Given the description of an element on the screen output the (x, y) to click on. 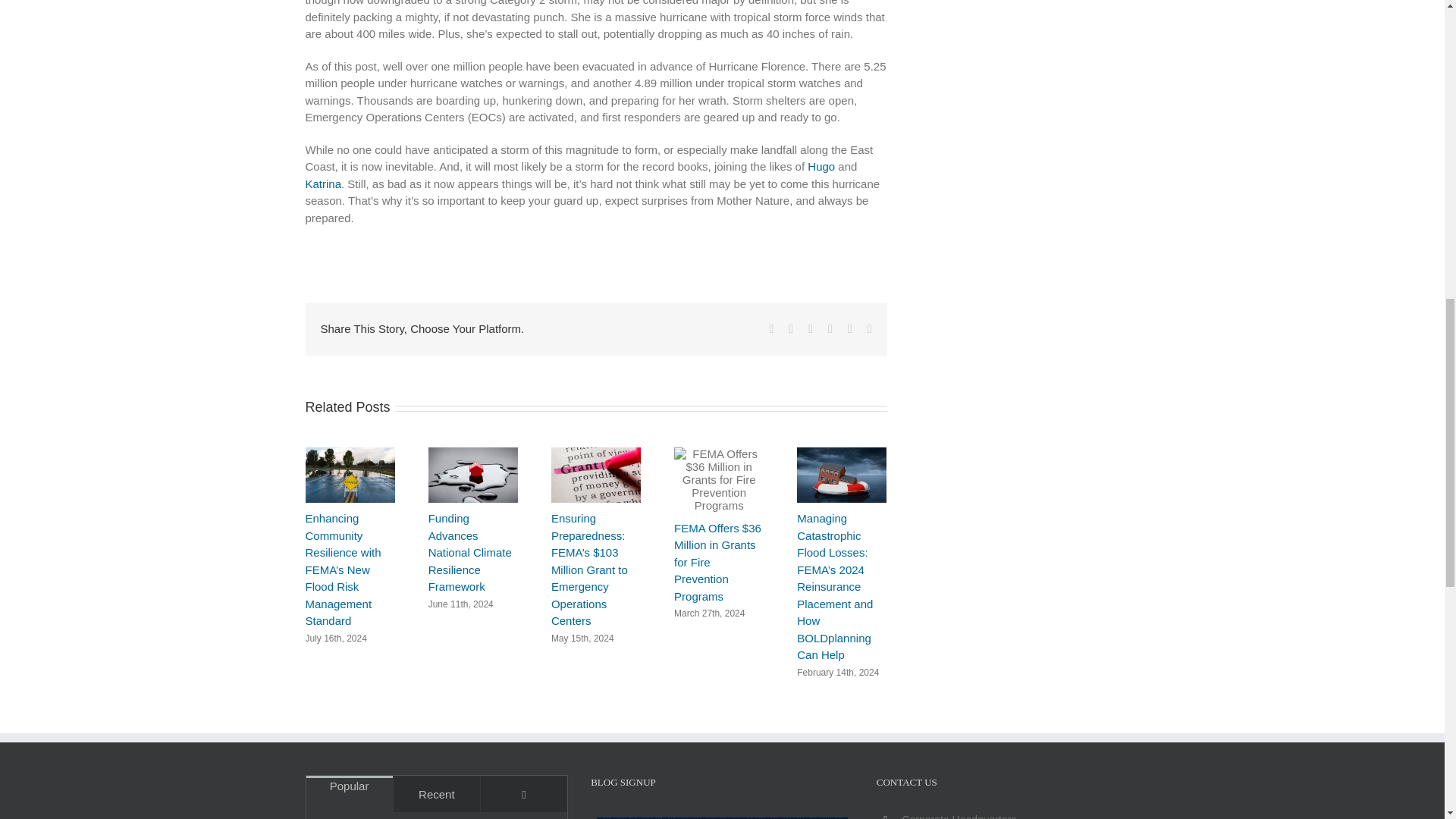
Funding Advances National Climate Resilience Framework (470, 551)
